Given the description of an element on the screen output the (x, y) to click on. 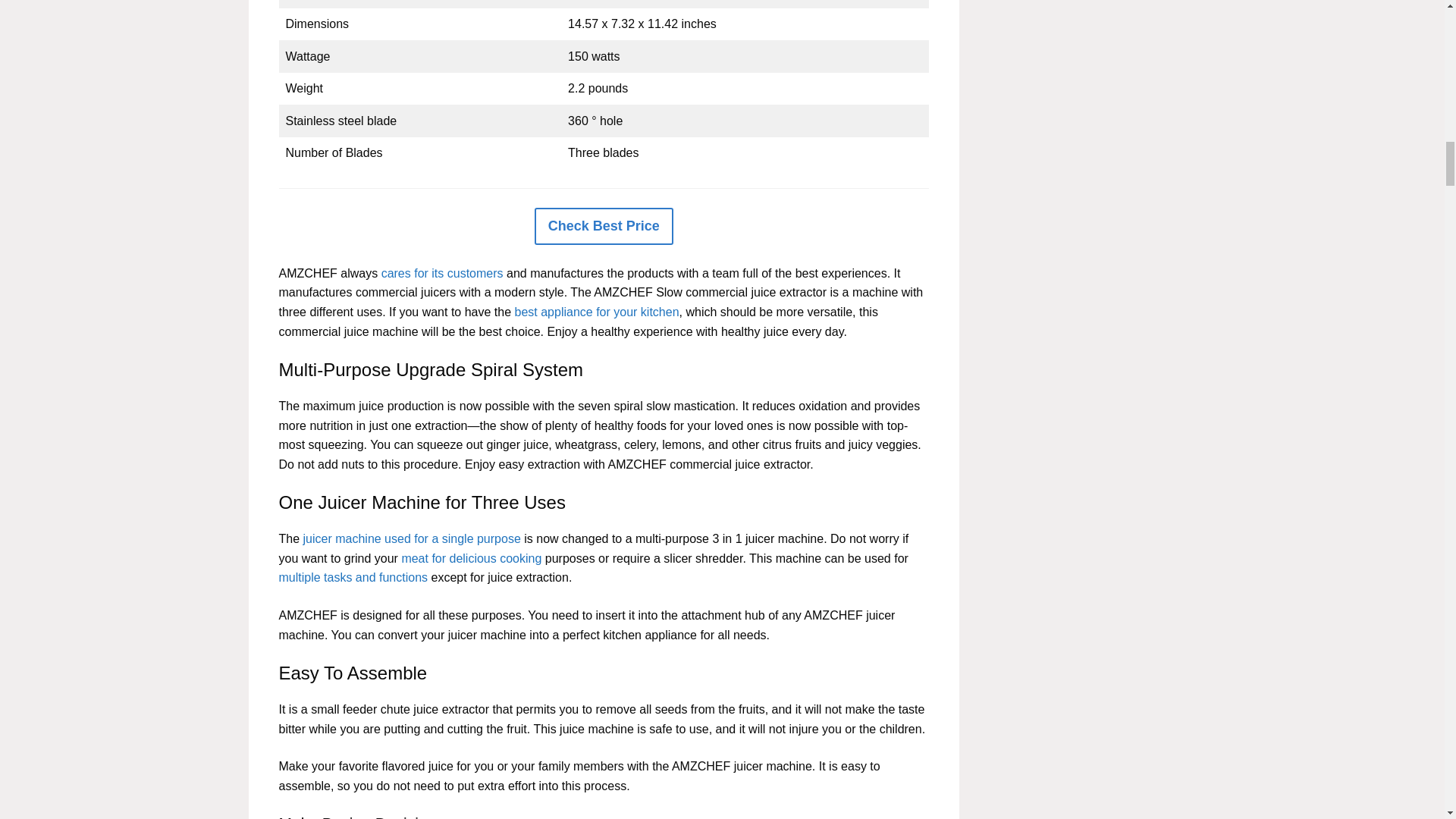
Best Centrifugal Juicers For Making Your Kitchen Versatile (411, 538)
meat for delicious cooking (471, 558)
multiple tasks and functions (353, 576)
juicer machine used for a single purpose (411, 538)
best appliance for your kitchen (597, 311)
Can You Grind Meat After It Is Cooked? (471, 558)
Check Best Price (603, 226)
15 Best Chamomile Tea for Morning and Bedtime (442, 273)
cares for its customers (442, 273)
